Given the description of an element on the screen output the (x, y) to click on. 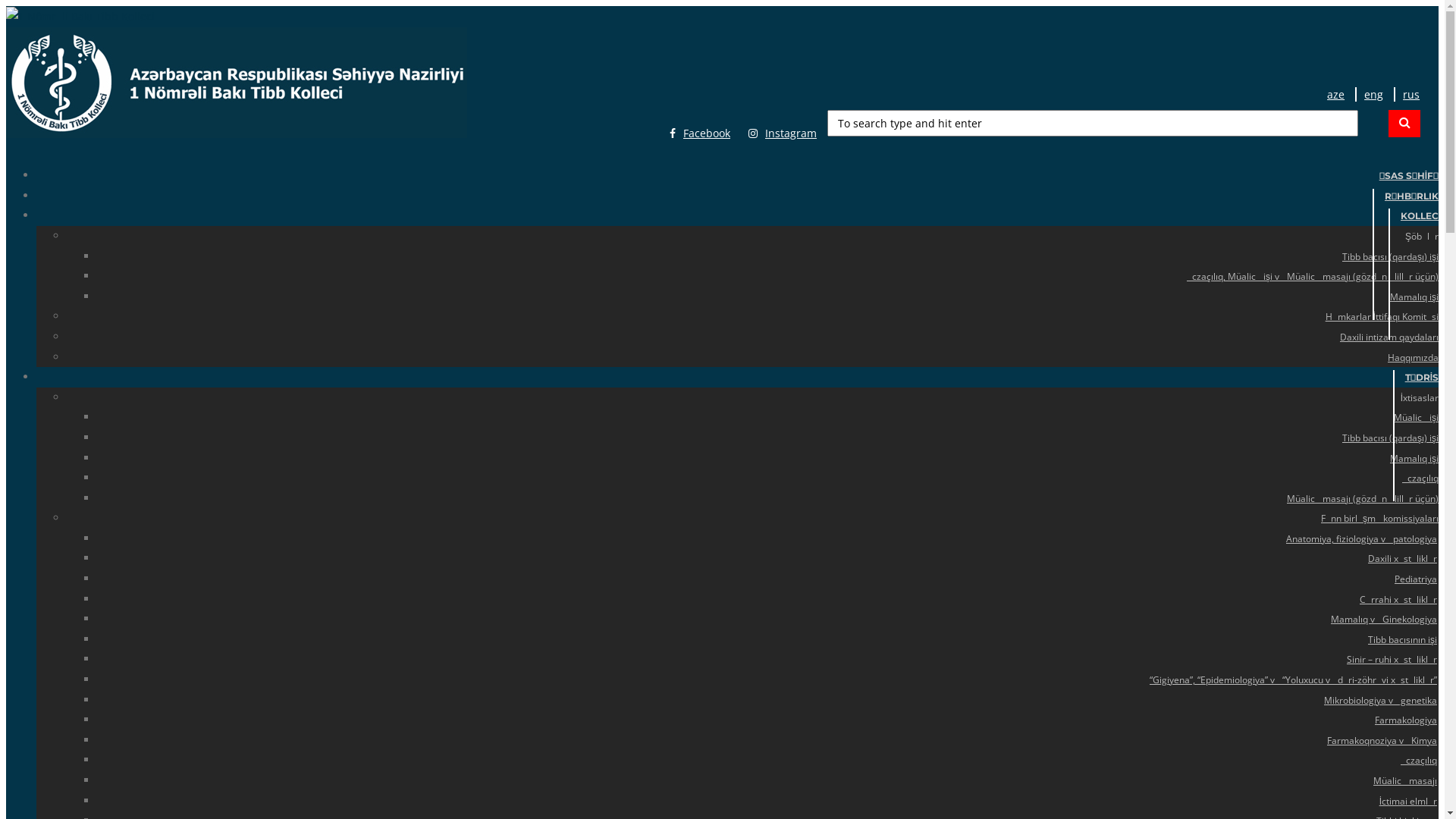
Facebook Element type: text (699, 133)
Search Element type: text (1395, 123)
Instagram Element type: text (782, 133)
Pediatriya Element type: text (1415, 578)
aze Element type: text (1335, 94)
rus Element type: text (1410, 94)
eng Element type: text (1372, 94)
Farmakologiya Element type: text (1405, 719)
KOLLEC Element type: text (1419, 215)
